Given the description of an element on the screen output the (x, y) to click on. 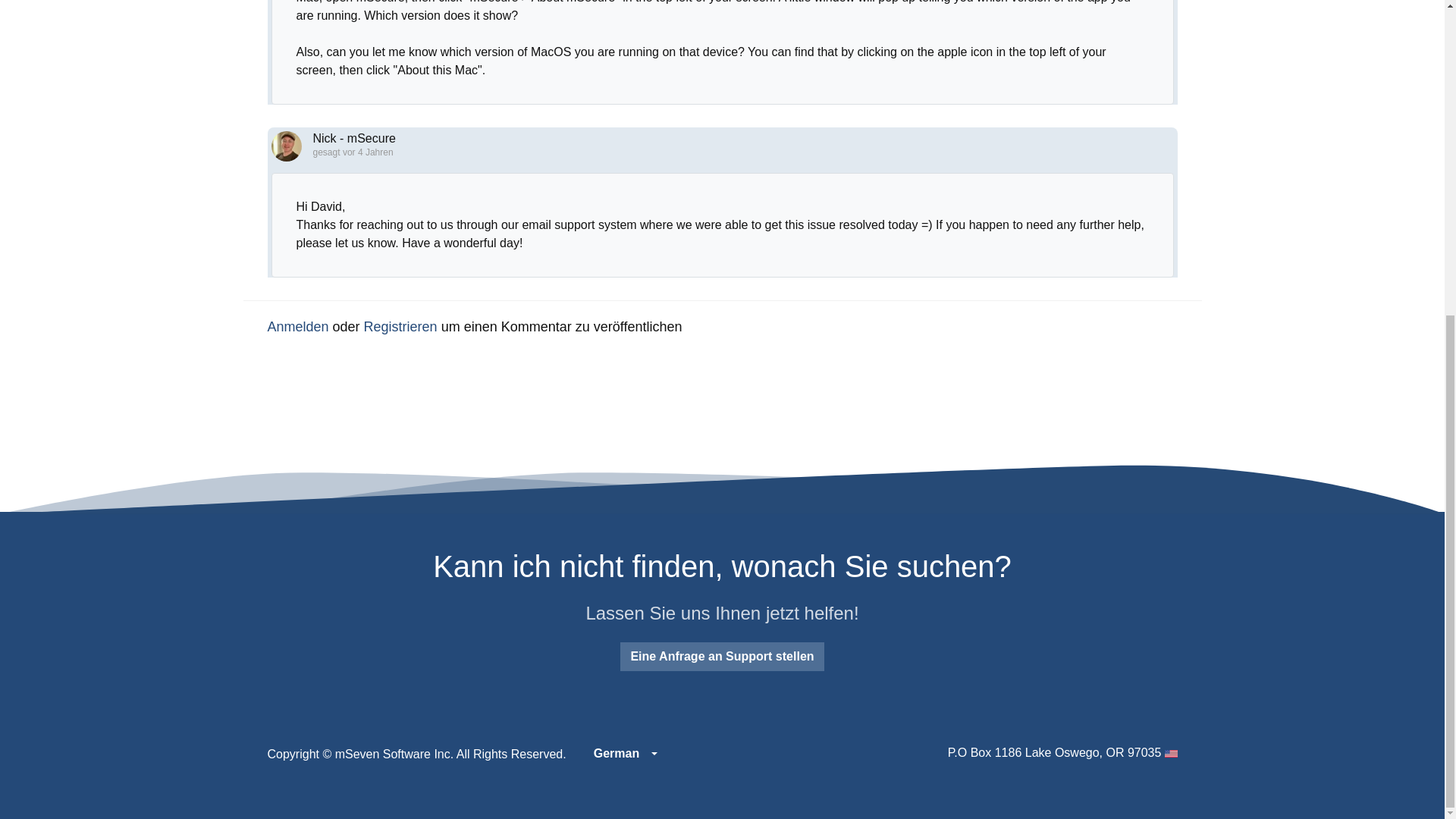
Registrieren (401, 326)
Anmelden (297, 326)
Eine Anfrage an Support stellen (722, 656)
